Given the description of an element on the screen output the (x, y) to click on. 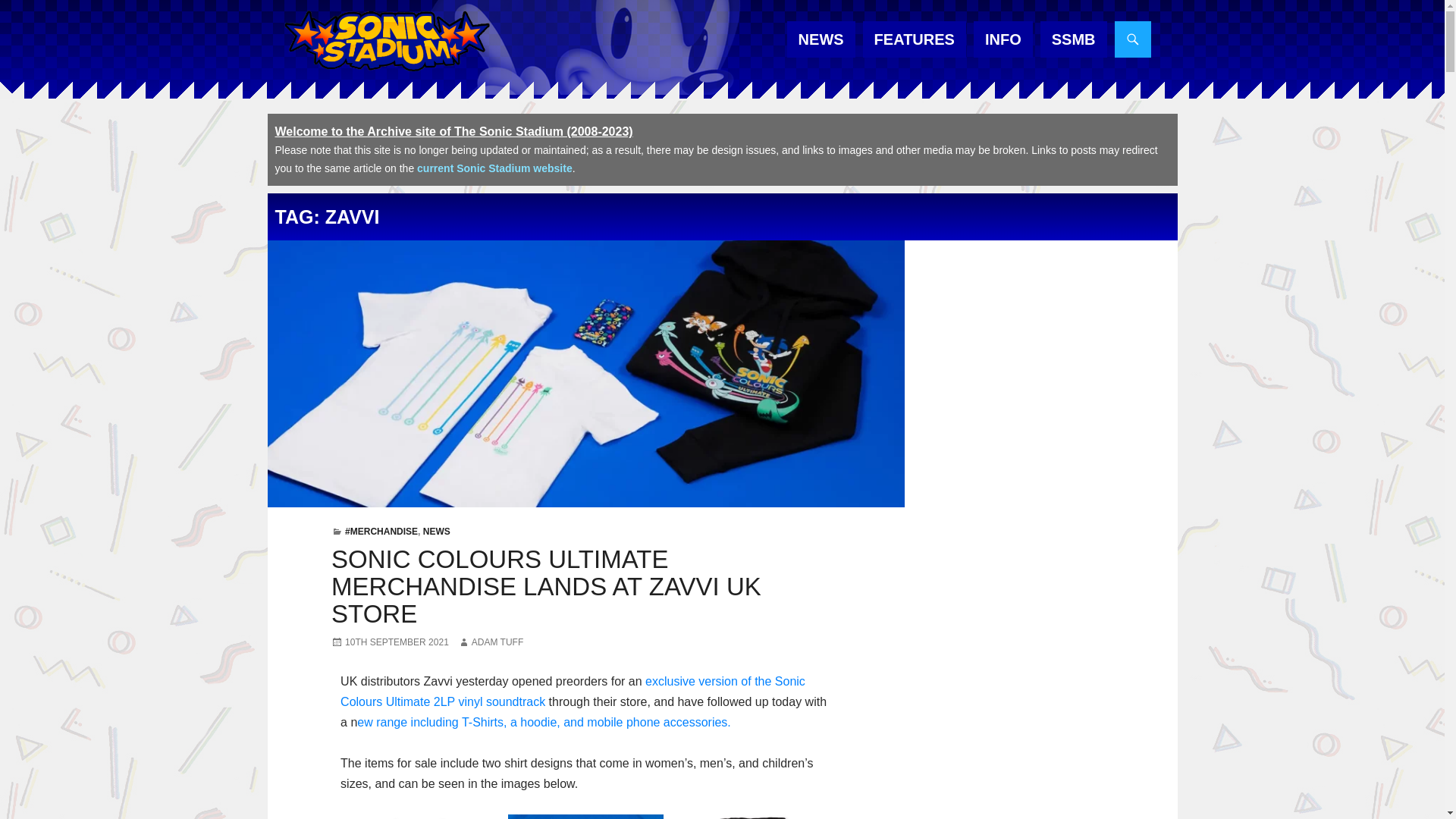
NEWS (821, 39)
FEATURES (914, 39)
SSMB (1073, 39)
Go back to the HOME Page... (385, 40)
INFO (1003, 39)
